Given the description of an element on the screen output the (x, y) to click on. 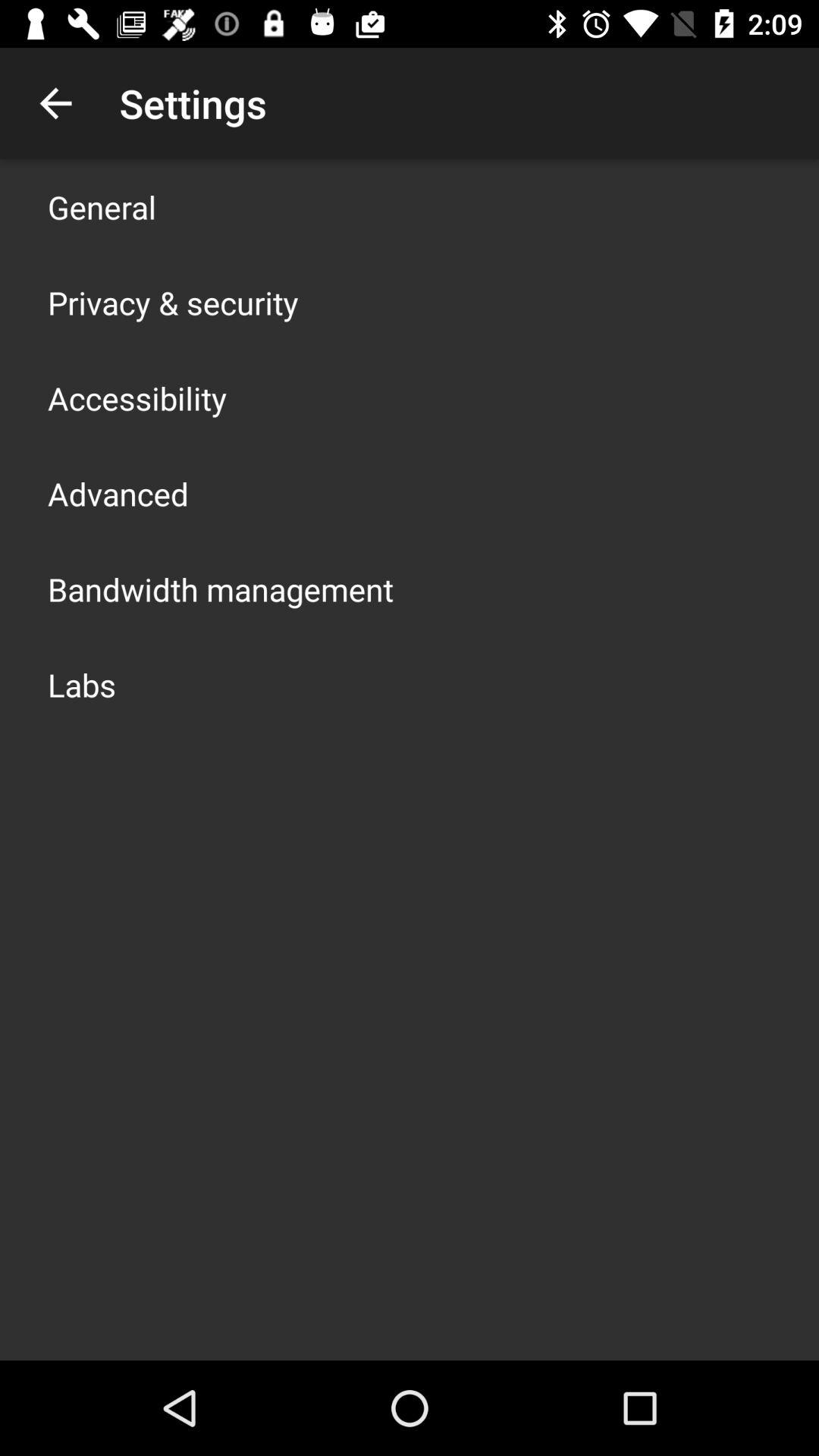
jump to labs (81, 684)
